Given the description of an element on the screen output the (x, y) to click on. 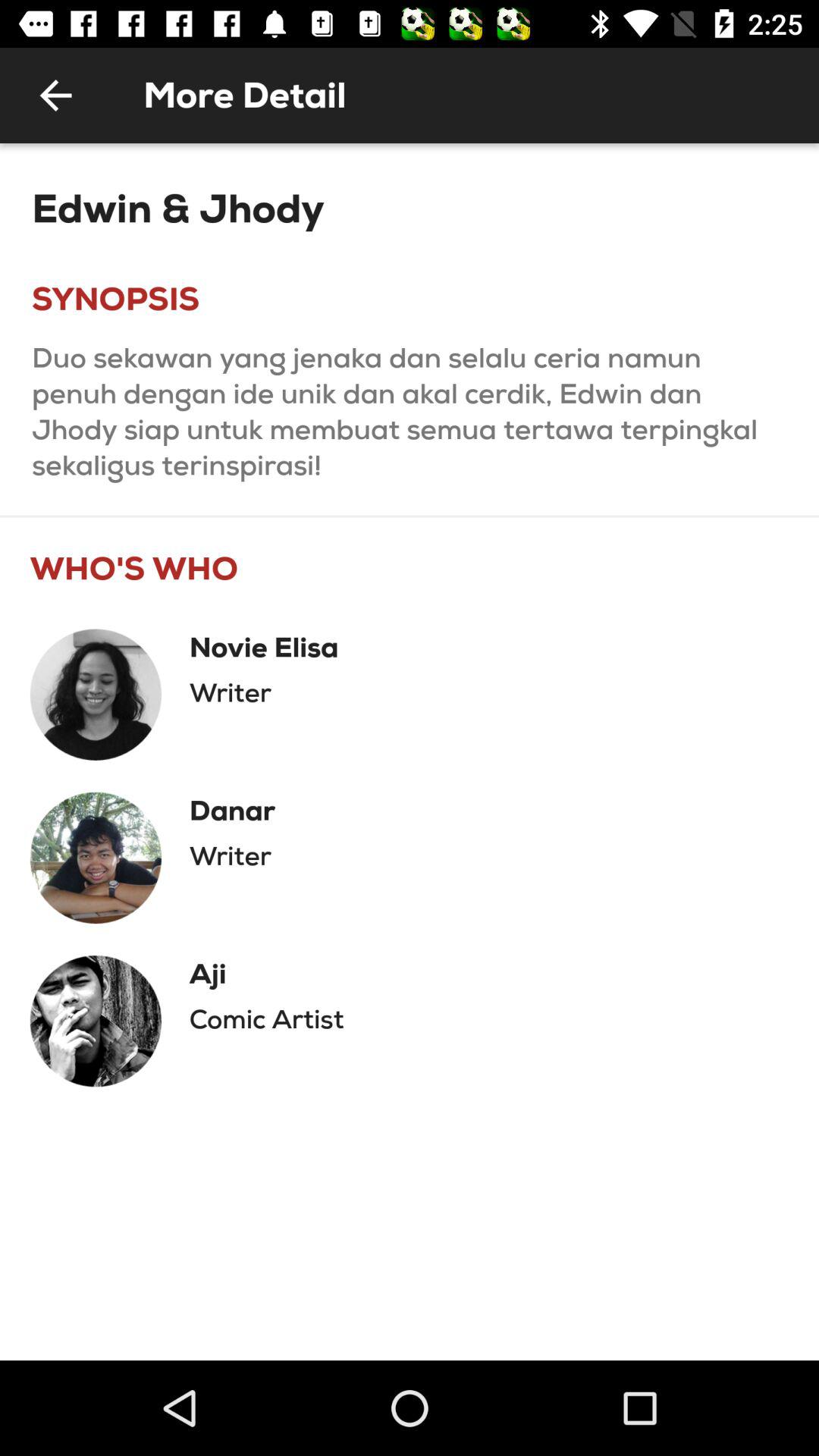
click icon above edwin & jhody item (55, 95)
